Given the description of an element on the screen output the (x, y) to click on. 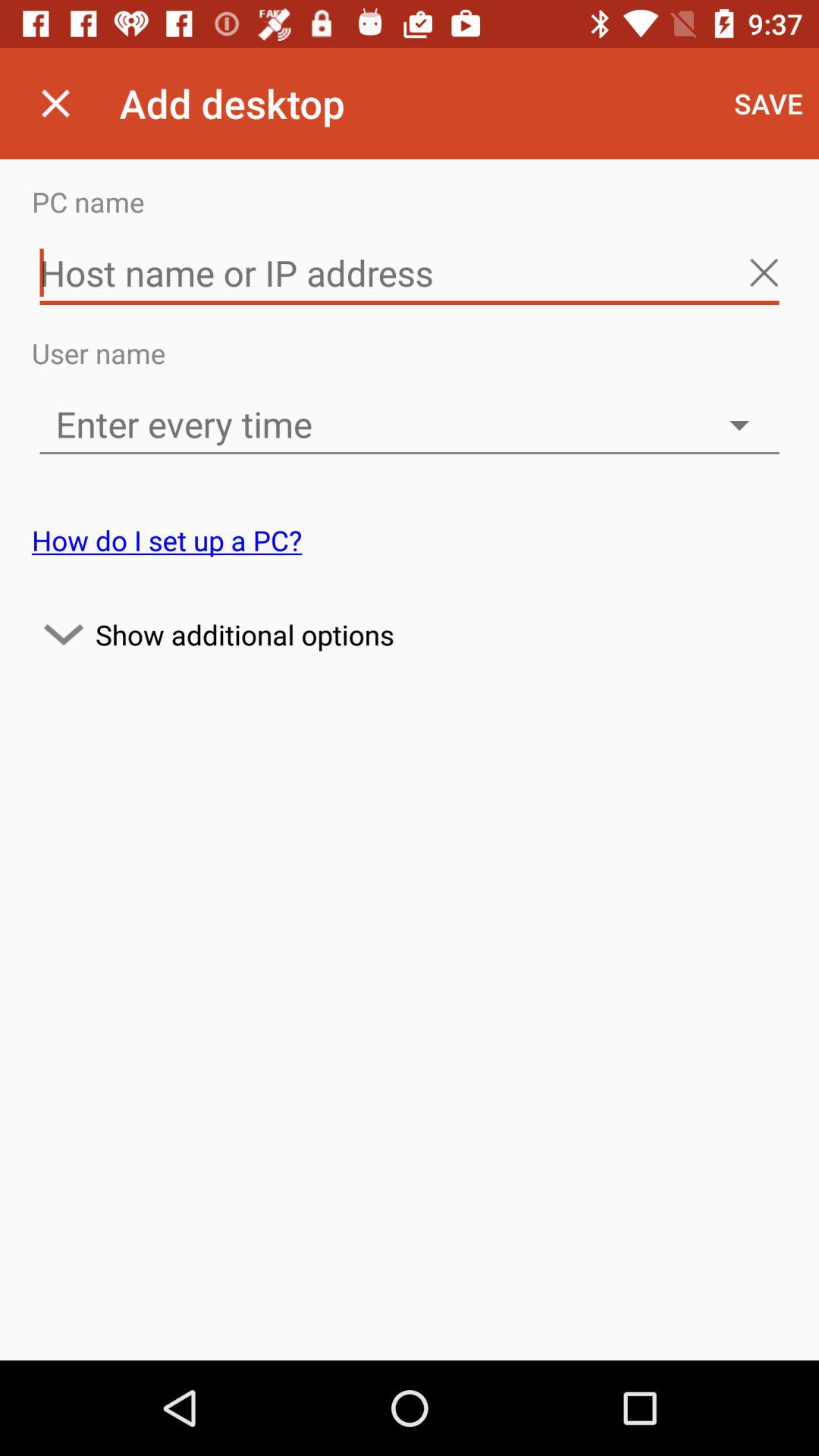
flip to the how do i (166, 540)
